Given the description of an element on the screen output the (x, y) to click on. 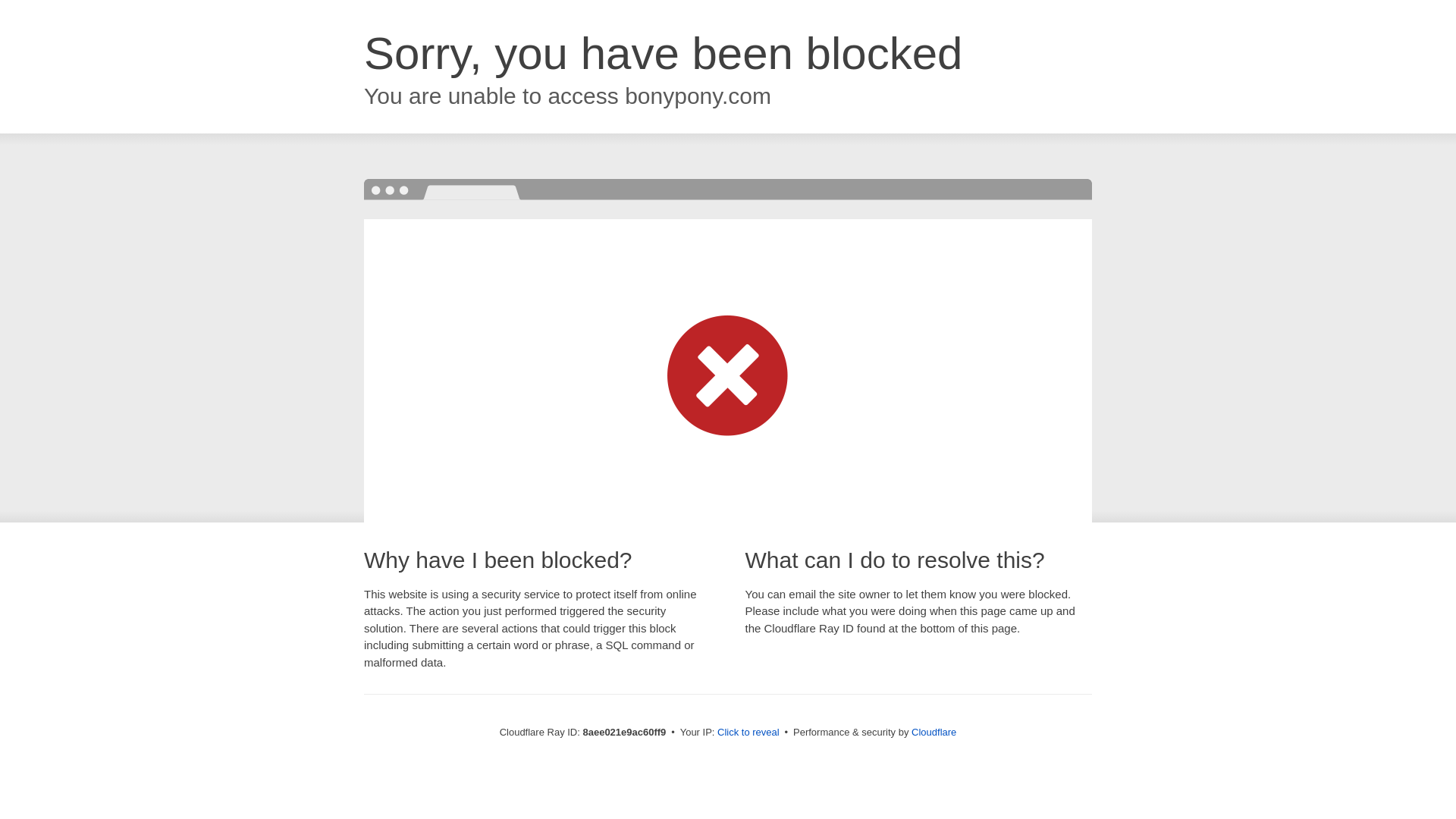
Cloudflare (933, 731)
Click to reveal (747, 732)
